Given the description of an element on the screen output the (x, y) to click on. 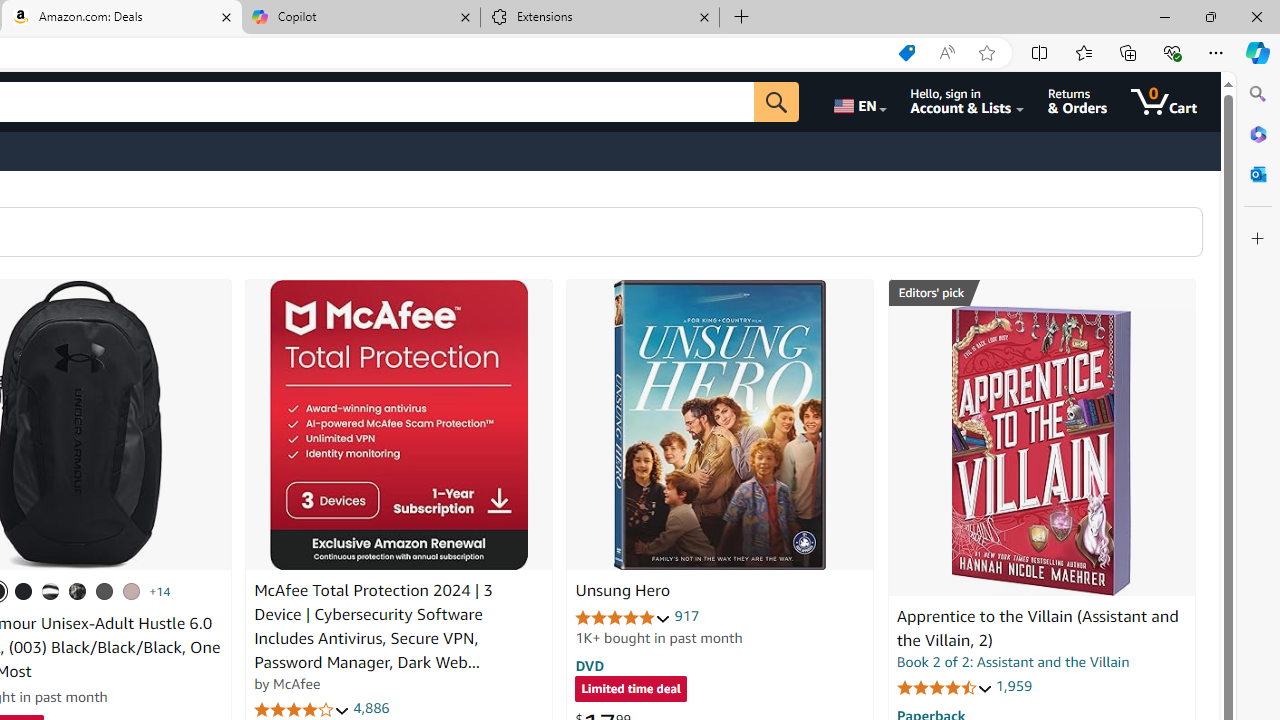
Read aloud this page (Ctrl+Shift+U) (946, 53)
Microsoft 365 (1258, 133)
917 (687, 616)
Settings and more (Alt+F) (1215, 52)
4.6 out of 5 stars (944, 686)
4.9 out of 5 stars (623, 616)
Choose a language for shopping. (858, 101)
Apprentice to the Villain (Assistant and the Villain, 2) (1041, 451)
Extensions (600, 17)
Favorites (1083, 52)
Copilot (Ctrl+Shift+.) (1258, 52)
